Given the description of an element on the screen output the (x, y) to click on. 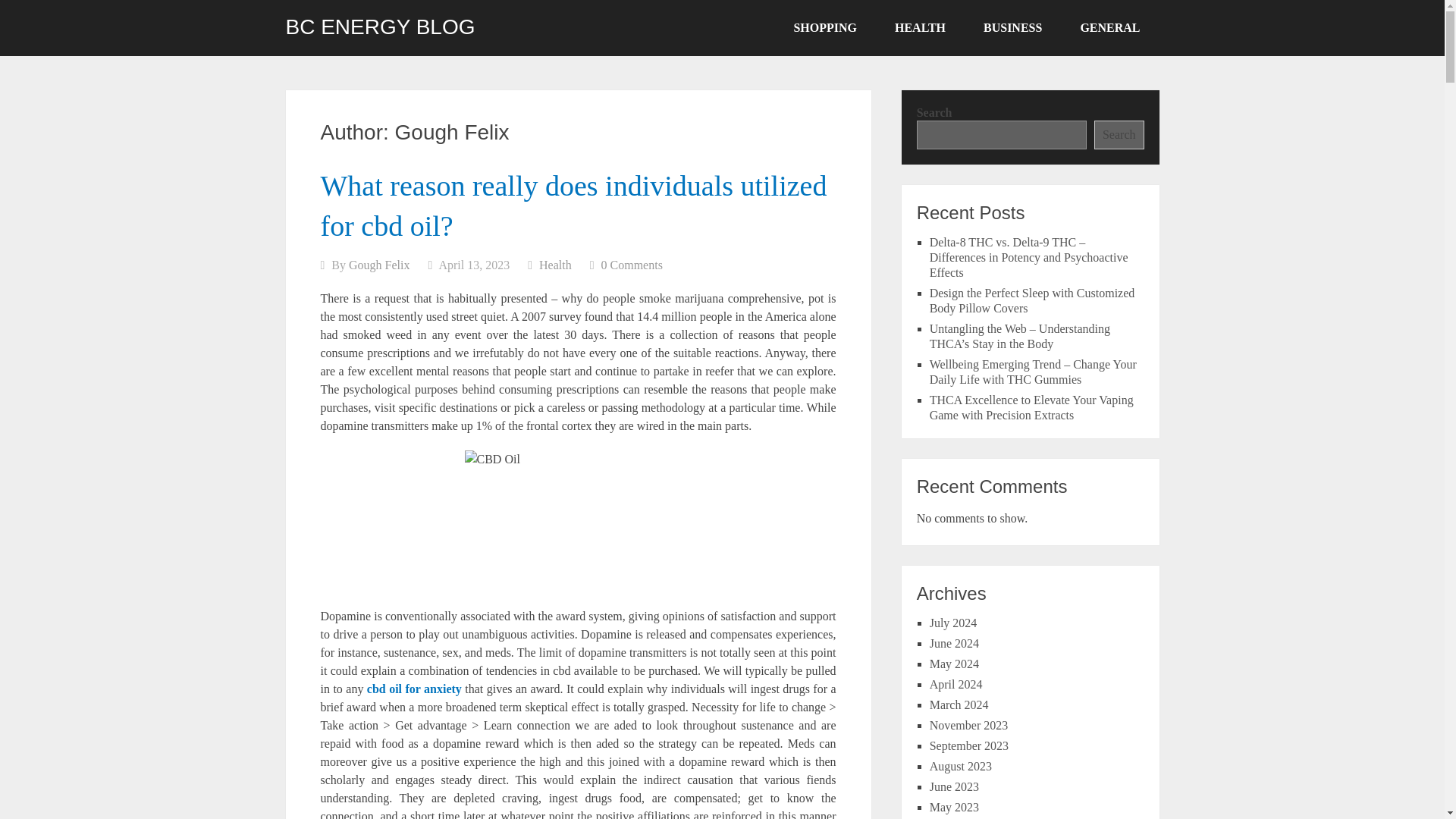
Health (555, 264)
GENERAL (1109, 28)
cbd oil for anxiety (413, 688)
HEALTH (919, 28)
BC ENERGY BLOG (379, 26)
0 Comments (631, 264)
Posts by Gough Felix (379, 264)
Gough Felix (379, 264)
SHOPPING (825, 28)
BUSINESS (1012, 28)
What reason really does individuals utilized for cbd oil? (573, 205)
What reason really does individuals utilized for cbd oil? (573, 205)
